Given the description of an element on the screen output the (x, y) to click on. 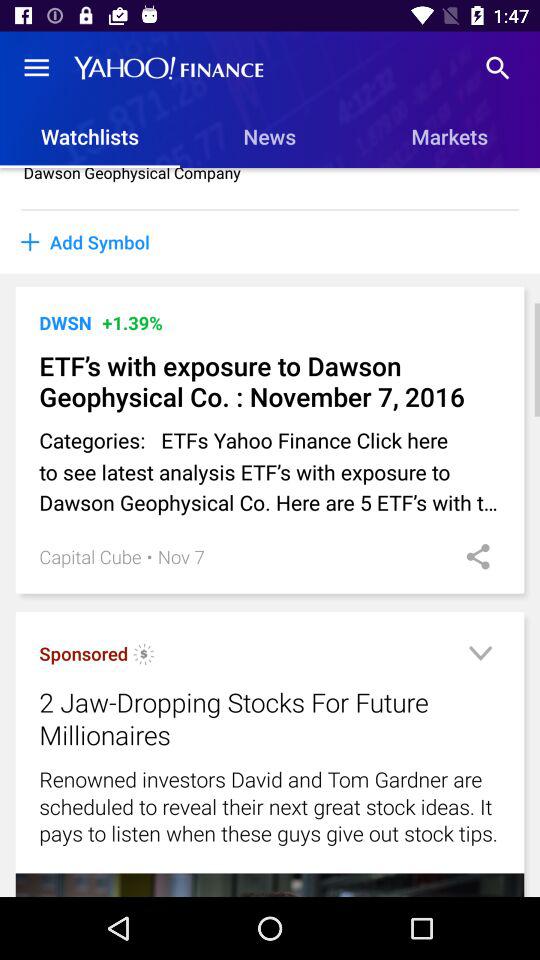
open the icon above the watchlists item (36, 68)
